Given the description of an element on the screen output the (x, y) to click on. 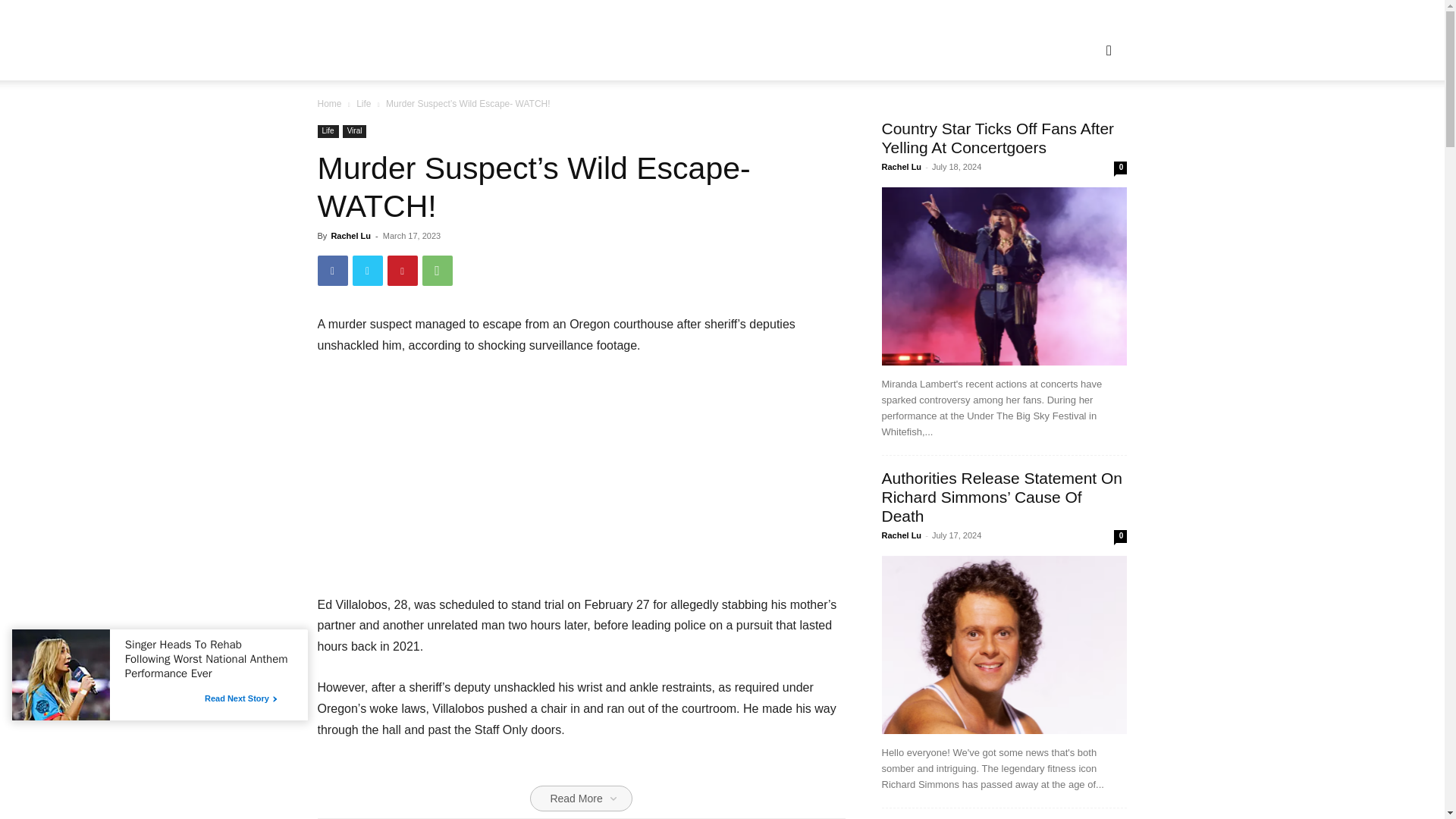
Rachel Lu (350, 235)
View all posts in Life (363, 103)
HOME (636, 50)
Viral (354, 131)
Life (327, 131)
WhatsApp (436, 270)
Search (1085, 122)
Pinterest (401, 270)
Advertisement (580, 789)
ANIMALS (697, 50)
Facebook (332, 270)
HUMOR (762, 50)
INSPIRATIONAL (844, 50)
TOMORROW (983, 50)
Advertisement (580, 481)
